Given the description of an element on the screen output the (x, y) to click on. 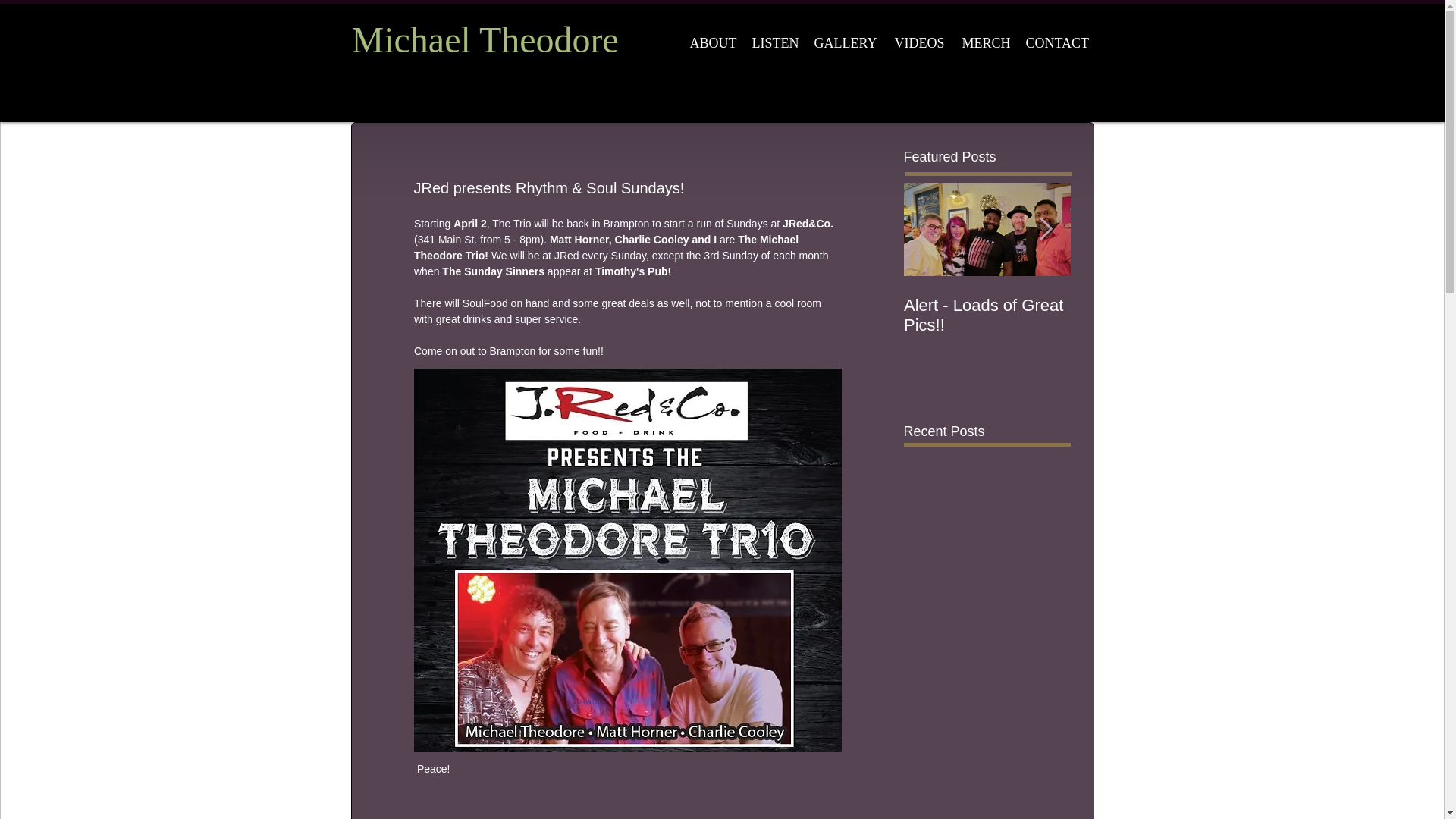
LISTEN (775, 43)
ABOUT (713, 43)
Michael Theodore (485, 39)
VIDEOS (919, 43)
MERCH (985, 43)
CONTACT (1057, 43)
GALLERY (845, 43)
